Given the description of an element on the screen output the (x, y) to click on. 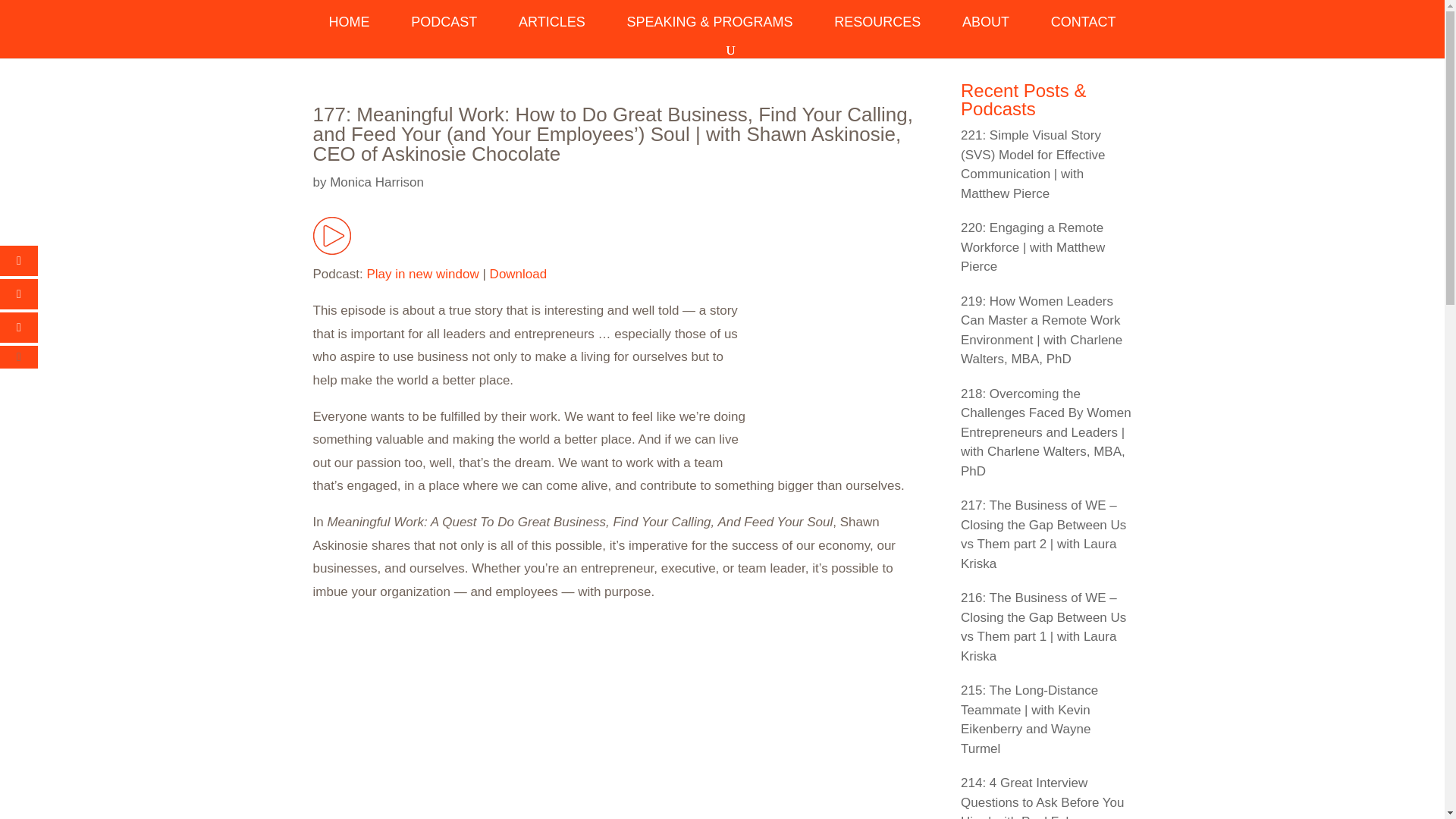
Play (331, 235)
Download (518, 273)
Play in new window (422, 273)
RESOURCES (877, 28)
CONTACT (1083, 28)
PODCAST (443, 28)
ARTICLES (551, 28)
Monica Harrison (376, 182)
HOME (349, 28)
ABOUT (985, 28)
Play in new window (422, 273)
Play (331, 250)
Posts by Monica Harrison (376, 182)
Download (518, 273)
